Given the description of an element on the screen output the (x, y) to click on. 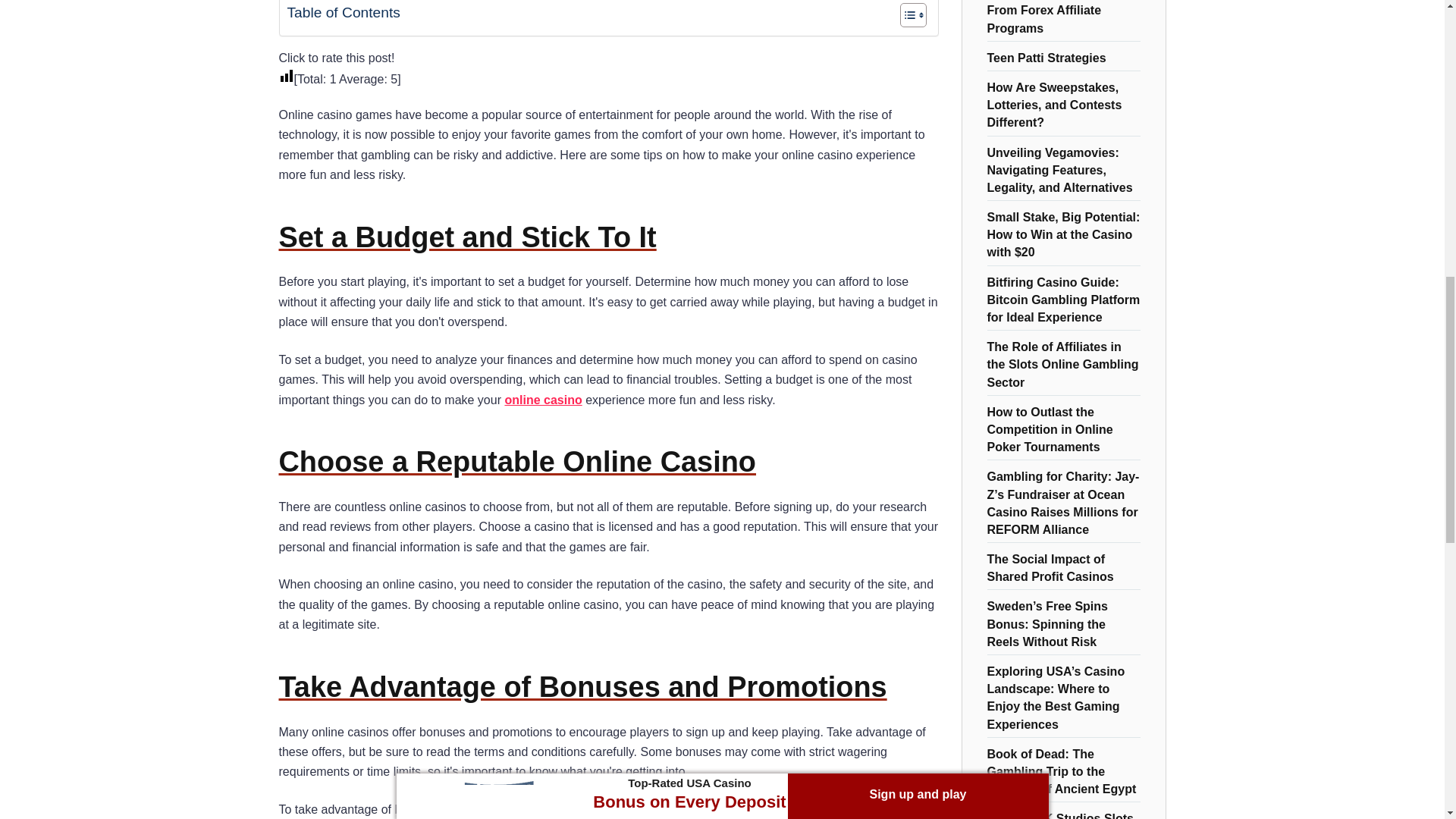
The Role of Affiliates in the Slots Online Gambling Sector (1062, 363)
online casino (541, 399)
How to Outlast the Competition in Online Poker Tournaments (1050, 428)
The Social Impact of Shared Profit Casinos (1050, 567)
Teen Patti Strategies (1046, 56)
How Are Sweepstakes, Lotteries, and Contests Different? (1054, 103)
5 Ways You Can Benefit From Forex Affiliate Programs (1055, 18)
